Given the description of an element on the screen output the (x, y) to click on. 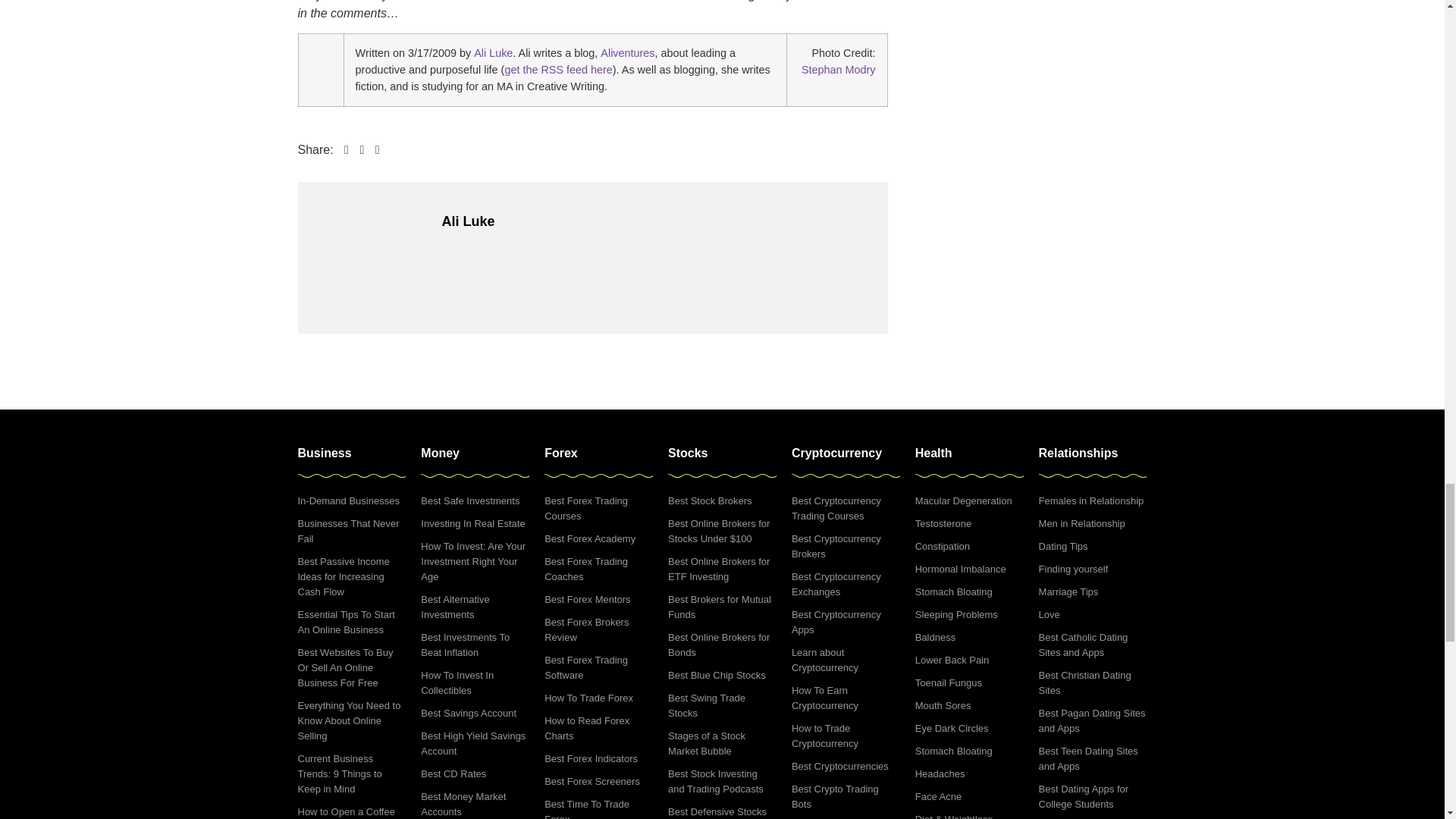
Ali Hale (319, 56)
